Given the description of an element on the screen output the (x, y) to click on. 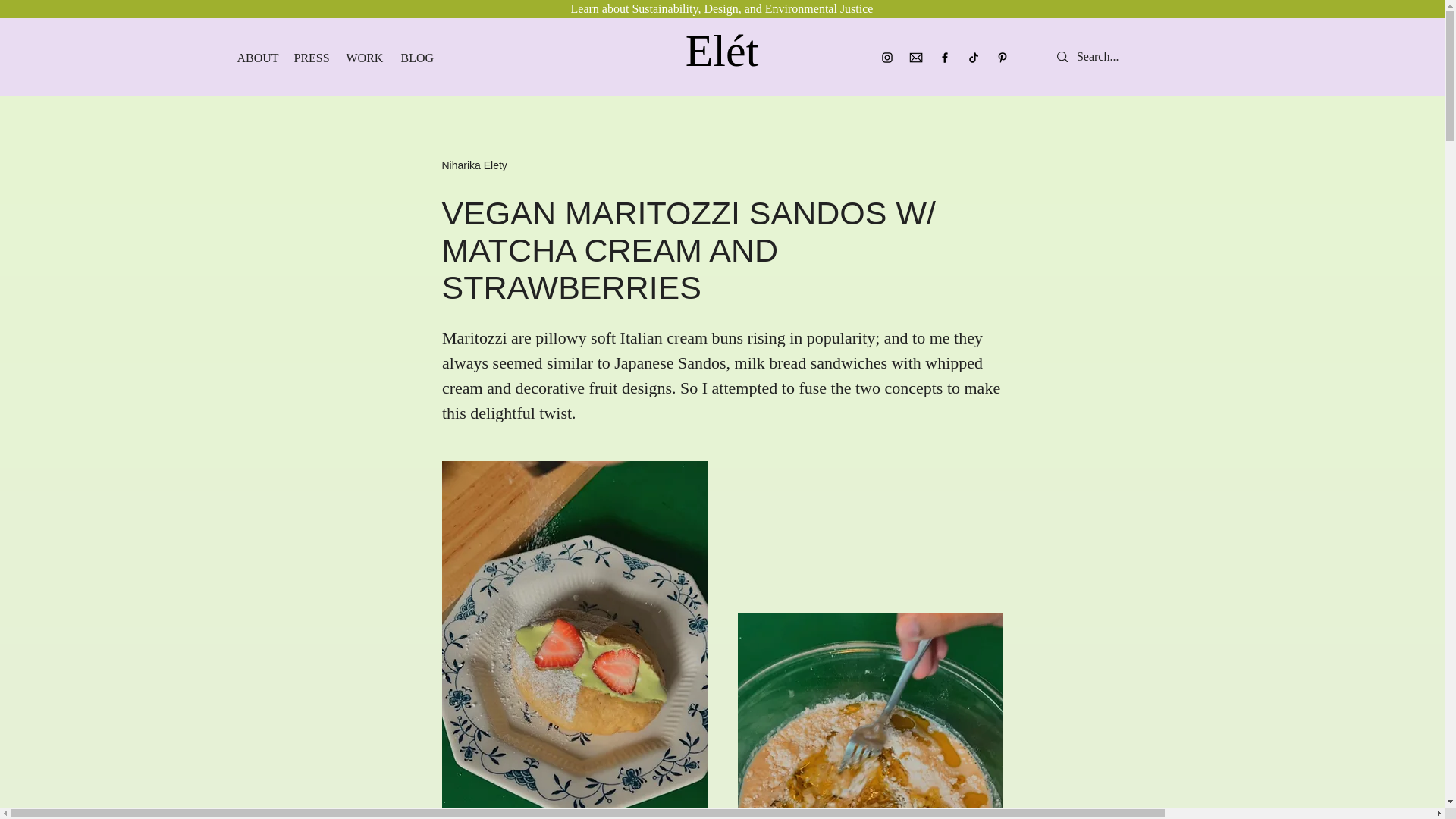
Niharika Elety (473, 165)
PRESS (308, 57)
ABOUT (253, 57)
WORK (362, 57)
Niharika Elety (473, 165)
